Given the description of an element on the screen output the (x, y) to click on. 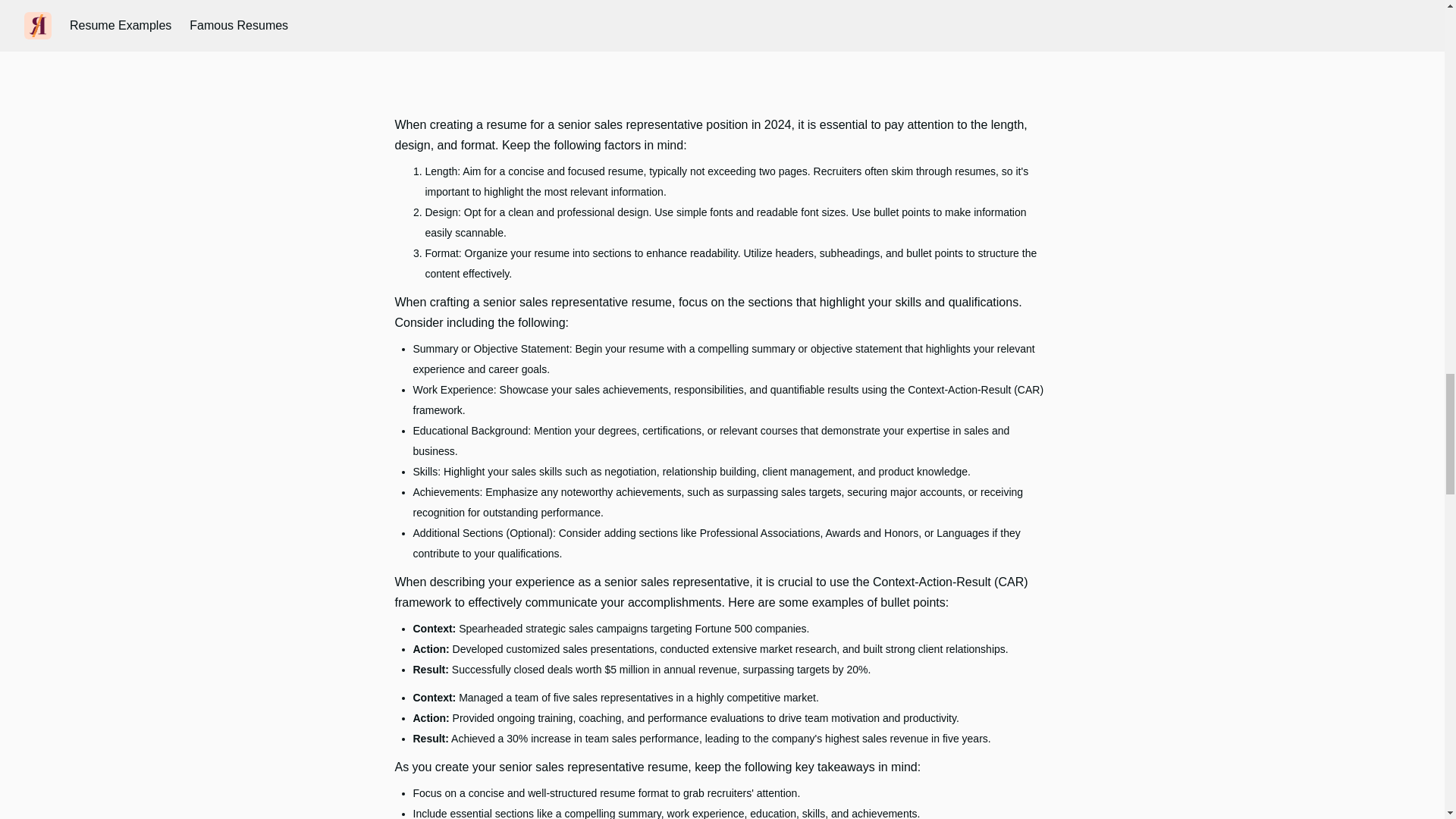
Use this example (722, 5)
